Given the description of an element on the screen output the (x, y) to click on. 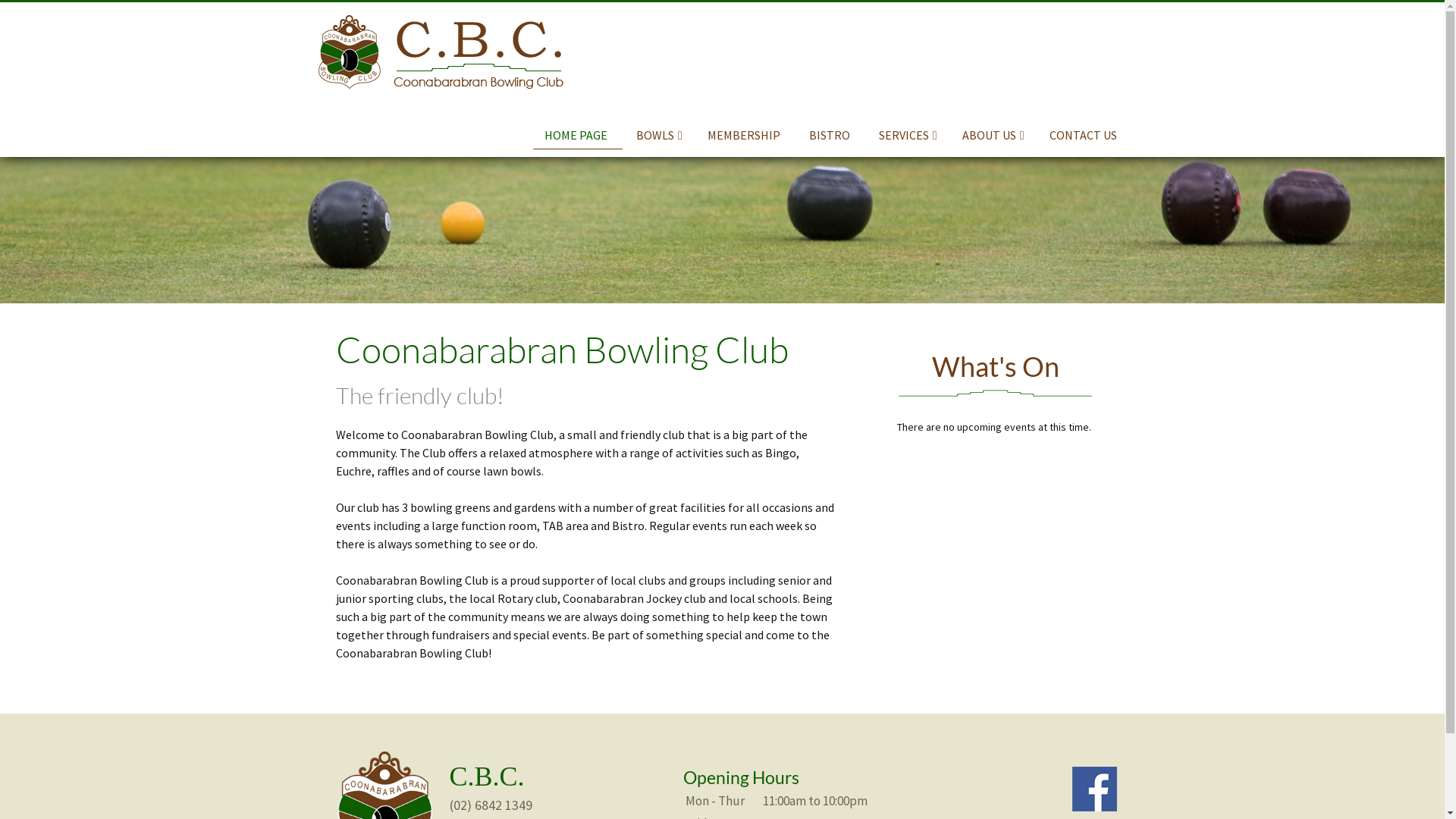
ABOUT US Element type: text (992, 134)
BISTRO Element type: text (831, 134)
CONTACT US Element type: text (1084, 134)
HOME PAGE Element type: text (577, 135)
Search Element type: text (34, 15)
BOWLS Element type: text (658, 134)
EASTER BOWLS Element type: text (651, 161)
SERVICES Element type: text (907, 134)
HISTORY Element type: text (977, 161)
MEMBERSHIP Element type: text (745, 134)
CLUB SAFE SELF-EXCLUSION Element type: text (893, 168)
